Given the description of an element on the screen output the (x, y) to click on. 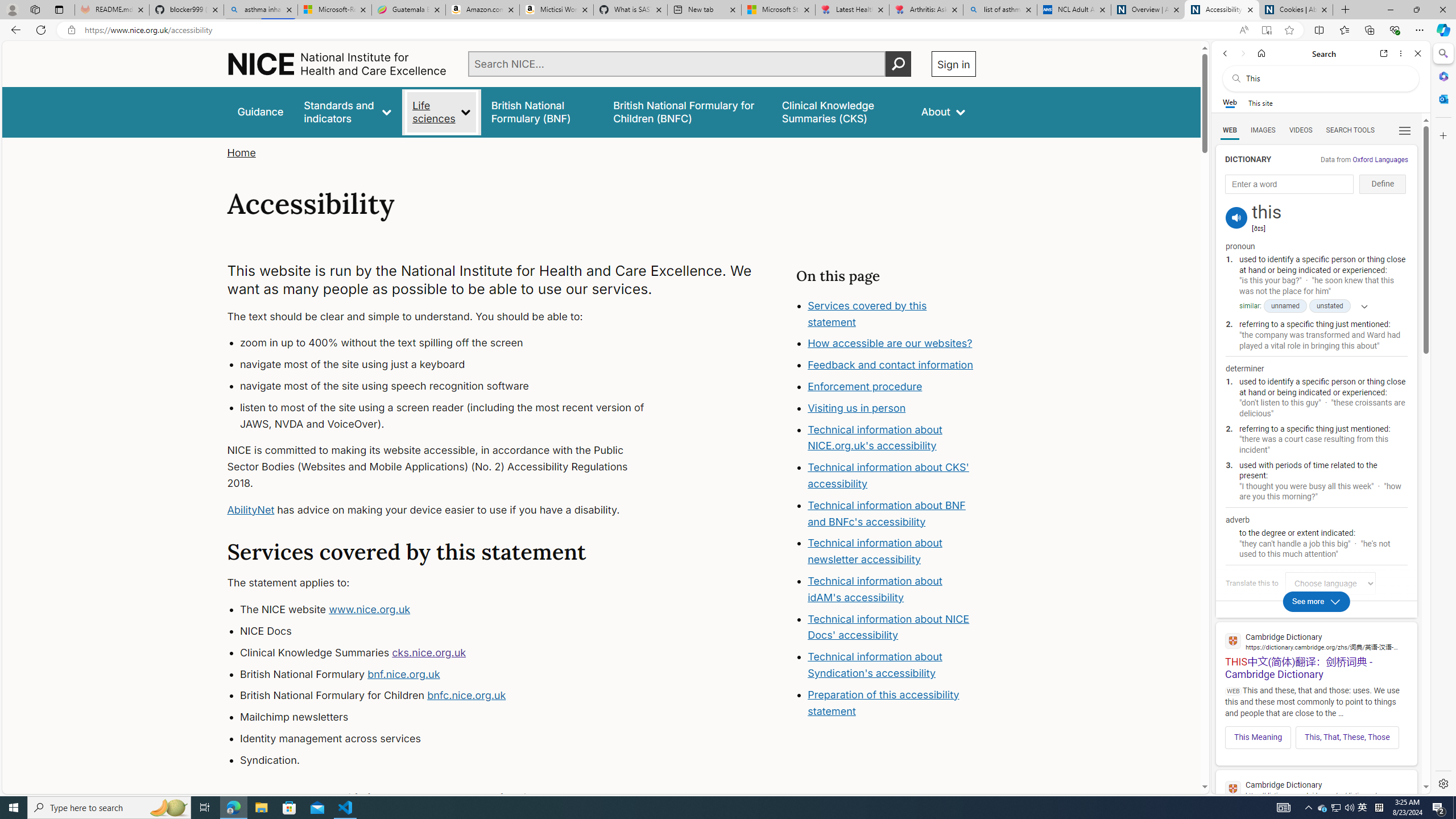
Show more (1360, 305)
Technical information about BNF and BNFc's accessibility (886, 512)
Clinical Knowledge Summaries cks.nice.org.uk (452, 652)
This MeaningThis, That, These, Those (1315, 734)
British National Formulary bnf.nice.org.uk (452, 674)
British National Formulary for Children (BNFC) (686, 111)
